Given the description of an element on the screen output the (x, y) to click on. 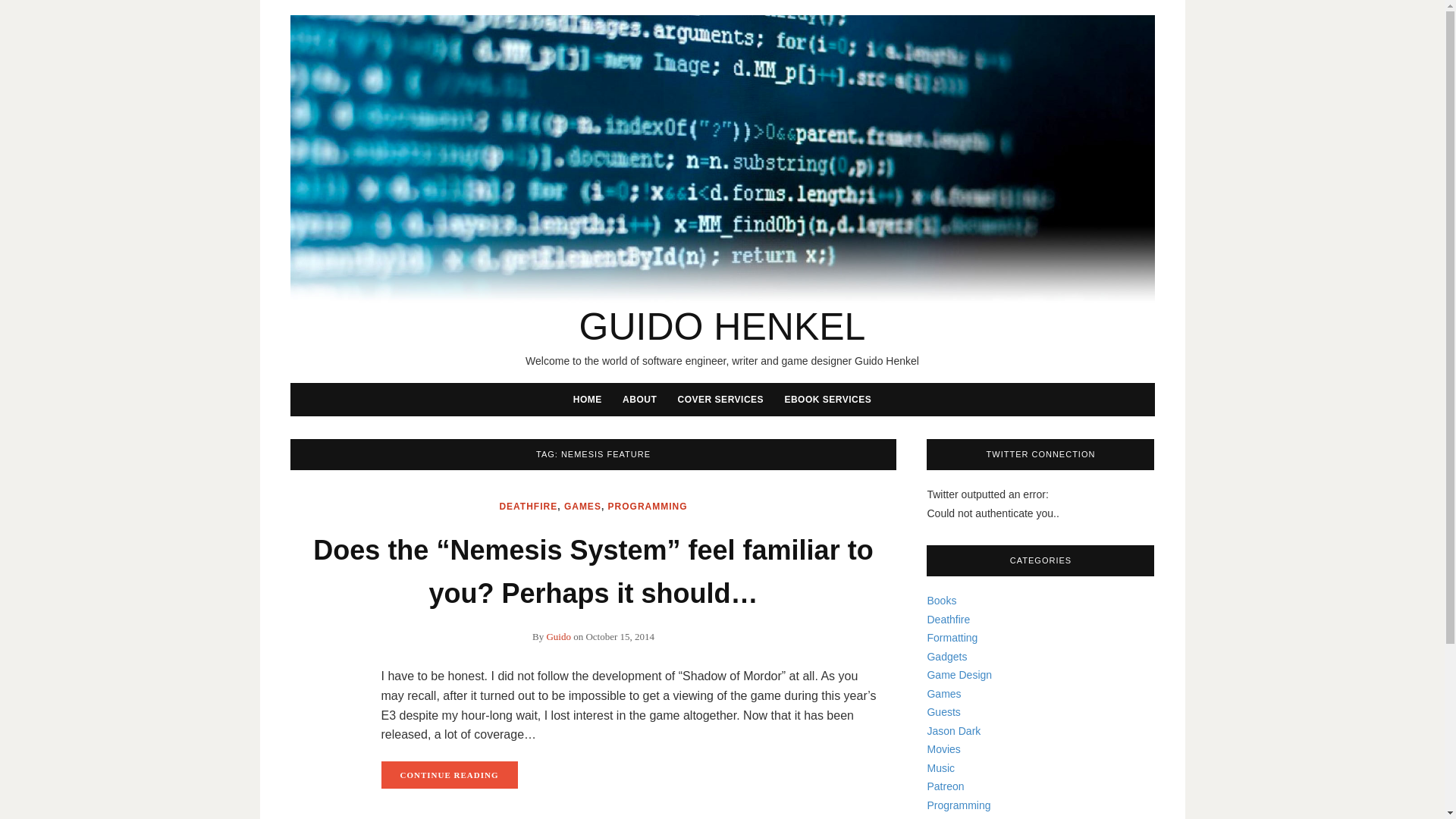
Game Design (958, 674)
PROGRAMMING (647, 506)
Games (943, 693)
Music (940, 767)
Guido (558, 636)
Deathfire (947, 618)
Guests (942, 711)
DEATHFIRE (528, 506)
Formatting (951, 637)
Jason Dark (952, 730)
